Given the description of an element on the screen output the (x, y) to click on. 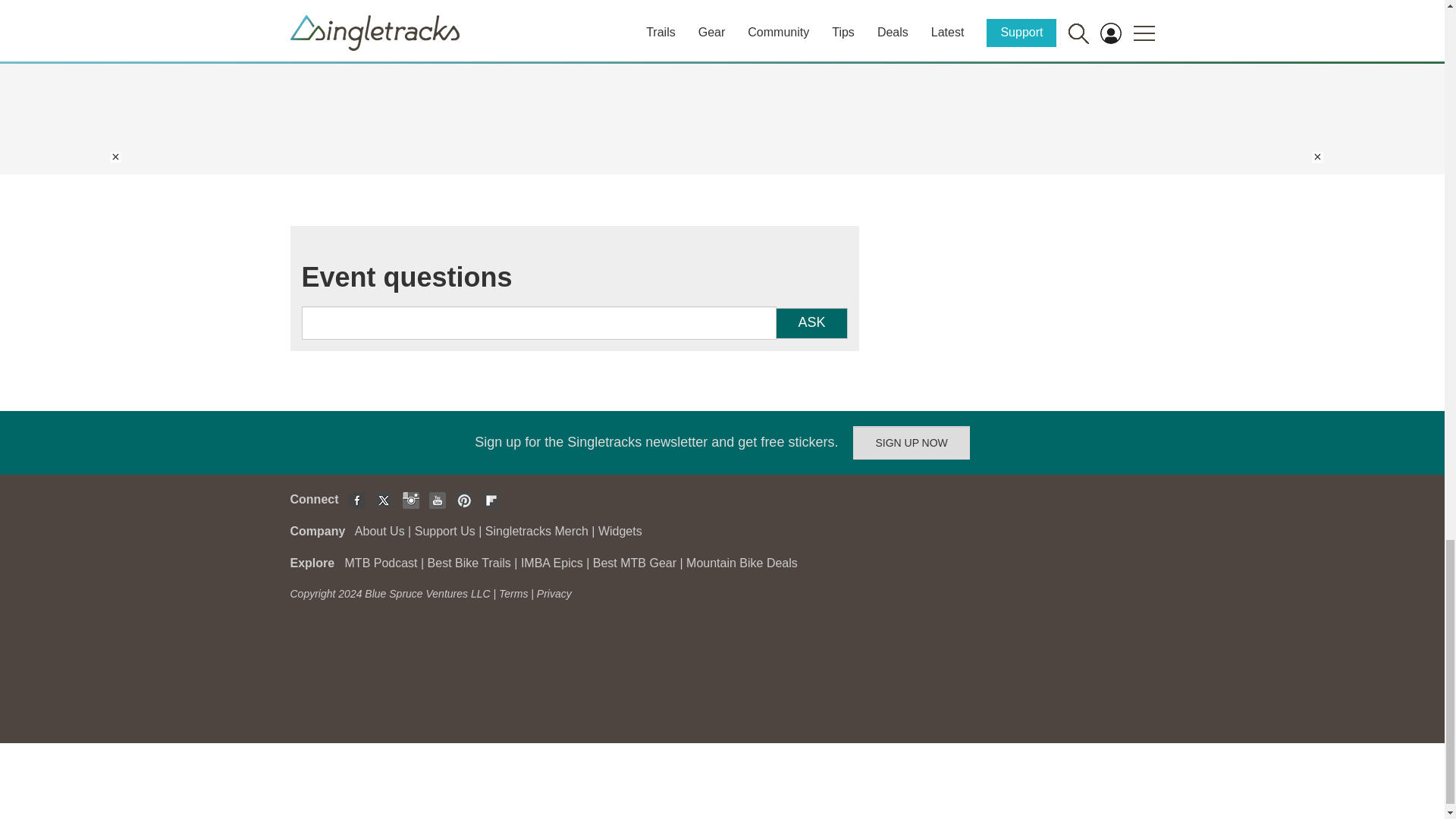
SIGN UP NOW (911, 442)
